Given the description of an element on the screen output the (x, y) to click on. 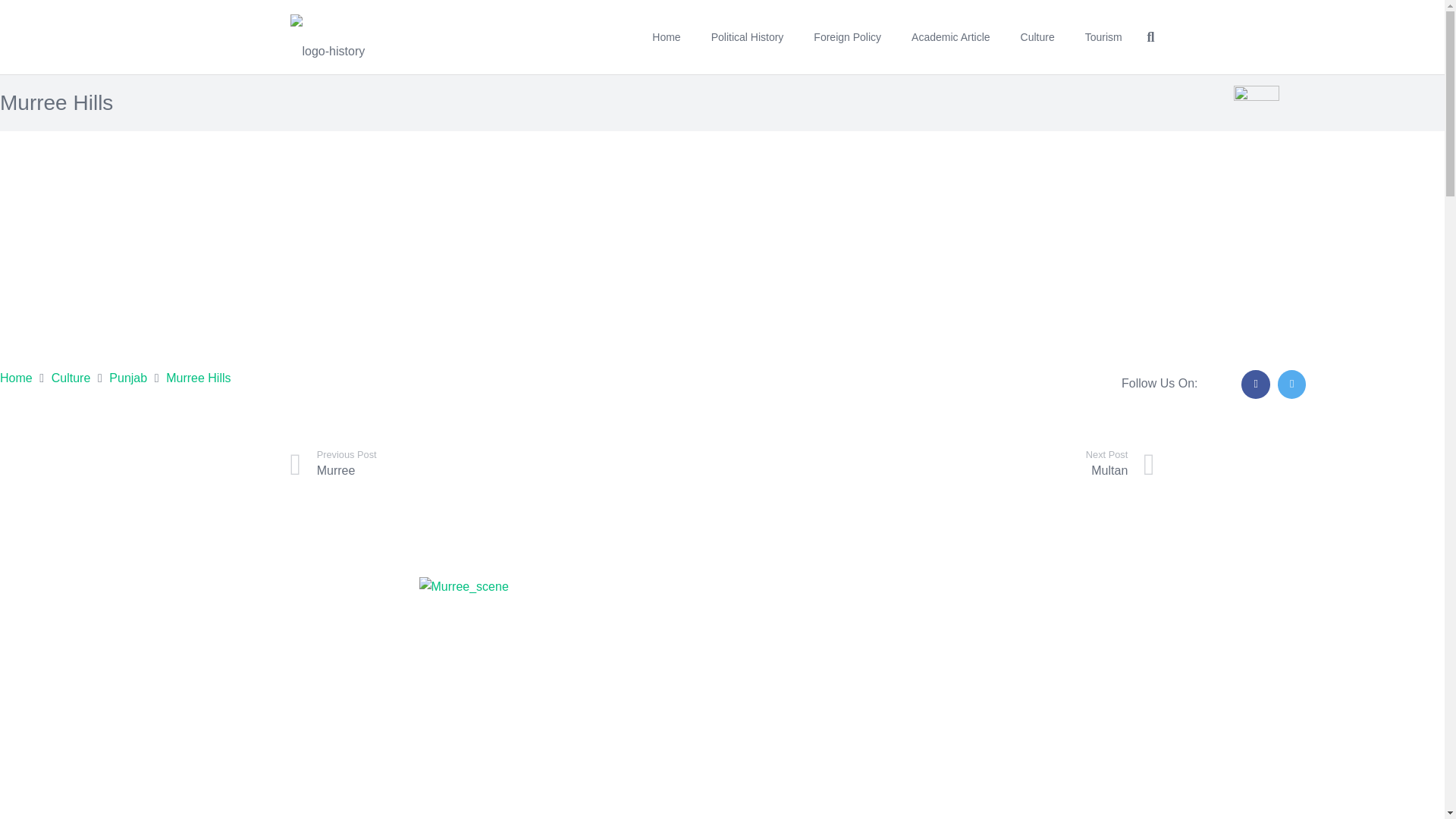
Punjab (128, 377)
Culture (70, 377)
Academic Article (505, 463)
Home (950, 37)
Culture (16, 377)
Home (938, 463)
Tourism (1038, 37)
Facebook (666, 37)
